Given the description of an element on the screen output the (x, y) to click on. 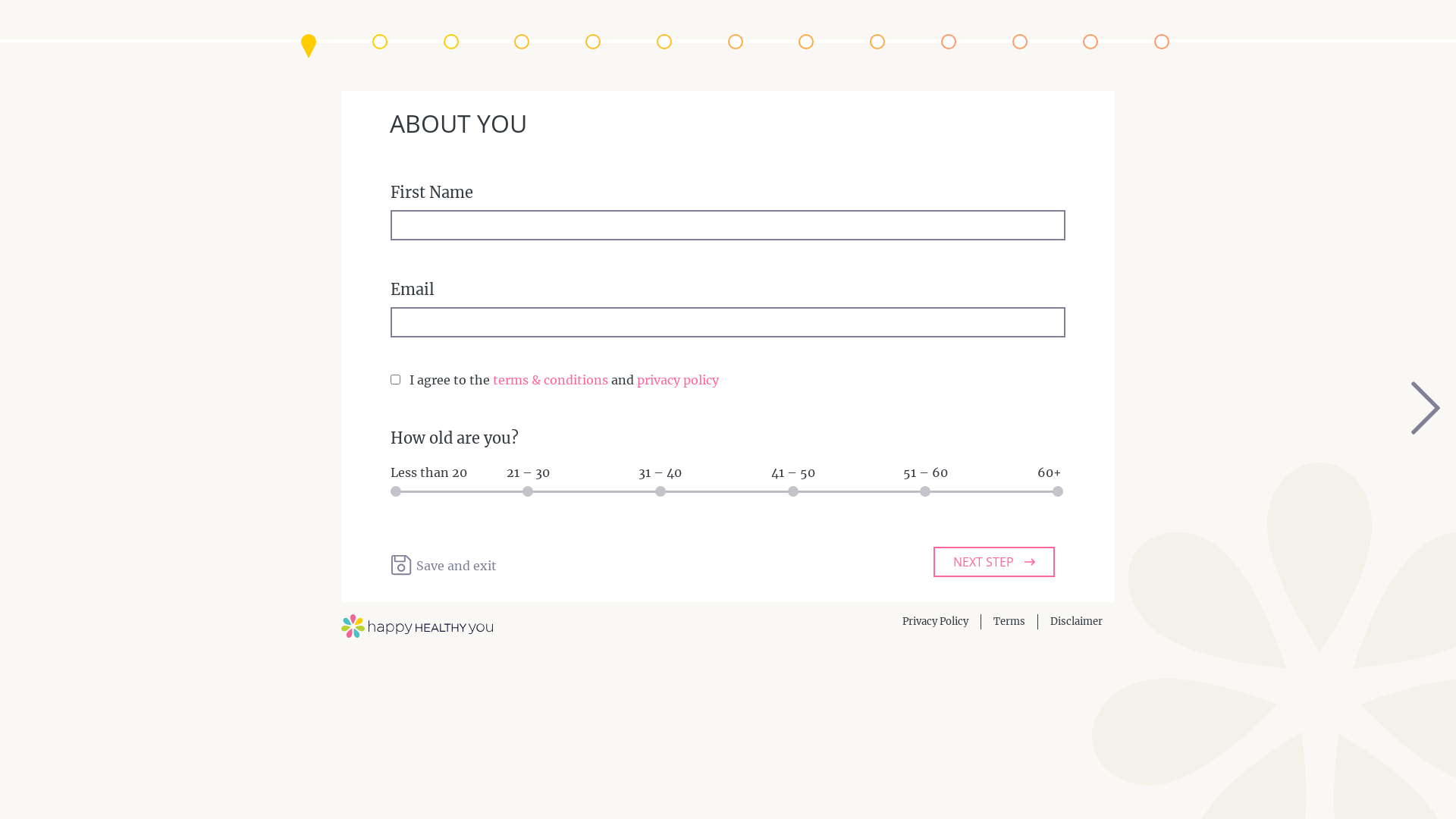
General Element type: hover (948, 41)
Terms Element type: text (1009, 621)
Results Element type: hover (1161, 41)
terms & conditions Element type: text (550, 379)
Almost there! Element type: hover (1090, 41)
NEXT STEP Element type: text (993, 561)
Skin, Hair & Nails Element type: hover (805, 41)
Privacy Policy Element type: text (935, 621)
Medical Conditions Element type: hover (450, 41)
Menopausal Profile Element type: hover (735, 41)
Disclaimer Element type: text (1076, 621)
Save and exit Save and exit Element type: text (443, 564)
Lifestyle Element type: hover (1018, 41)
About You Element type: hover (308, 41)
Liver & Digestive System Element type: hover (876, 41)
Neurological System Element type: hover (592, 41)
Endocrine System Element type: hover (521, 41)
Menstrual Profile Element type: hover (663, 41)
privacy policy Element type: text (677, 379)
Medical History Element type: hover (379, 41)
